Given the description of an element on the screen output the (x, y) to click on. 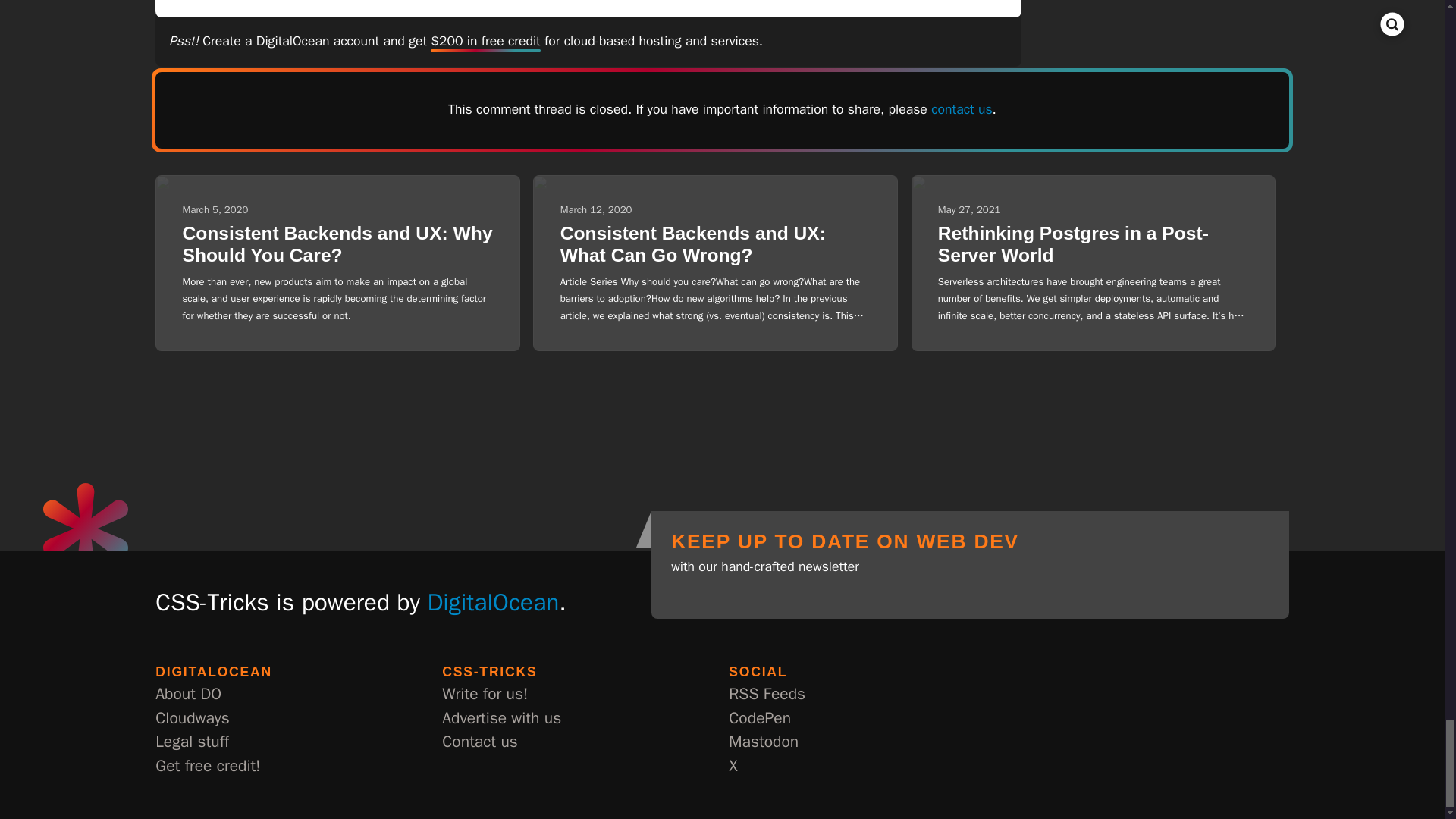
contact us (961, 108)
Consistent Backends and UX: Why Should You Care? (337, 244)
Consistent Backends and UX: What Can Go Wrong? (692, 244)
Rethinking Postgres in a Post-Server World (1072, 244)
Consistent Backends and UX: Why Should You Care? (337, 244)
